Given the description of an element on the screen output the (x, y) to click on. 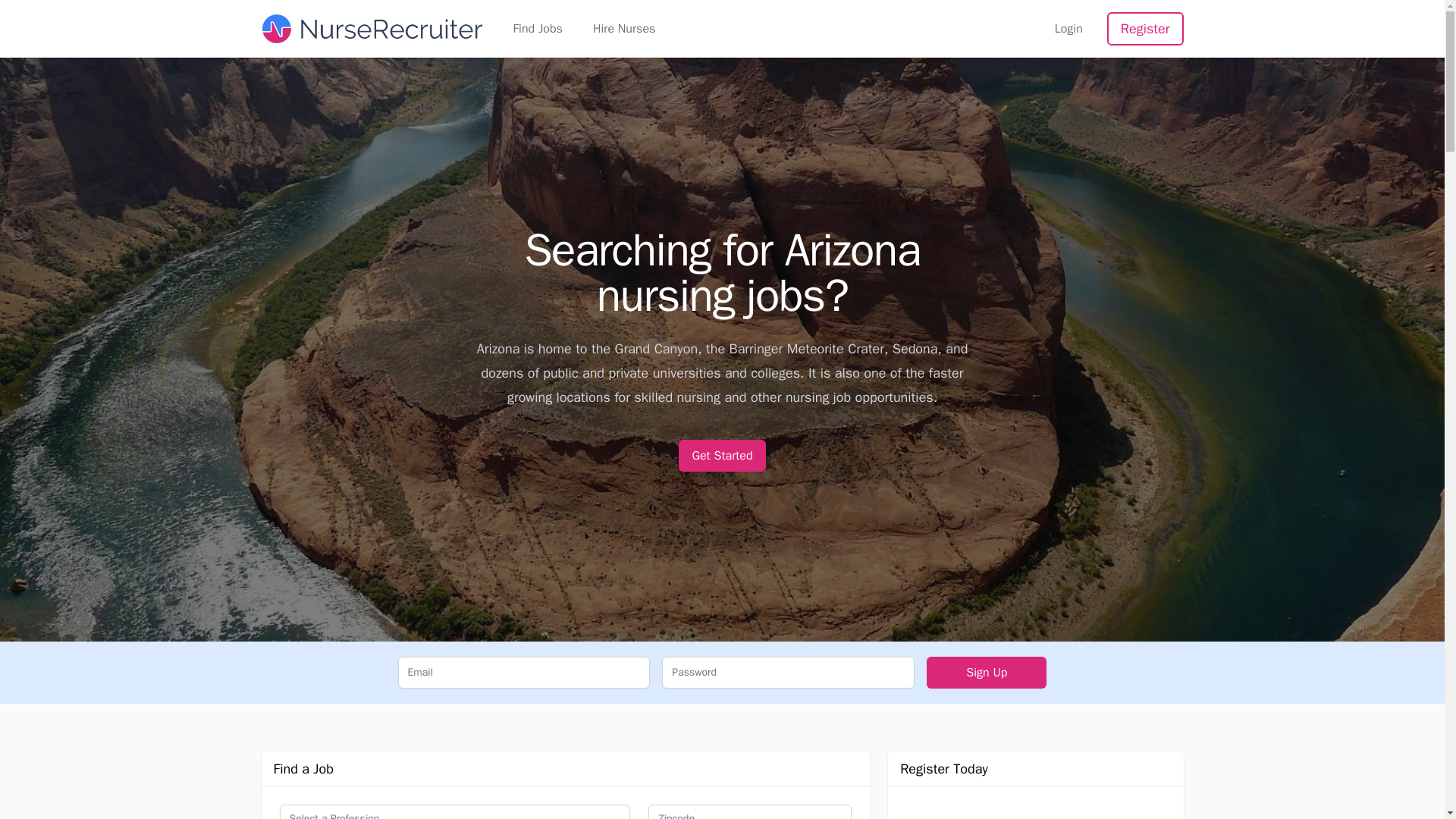
Sign Up (986, 672)
Get Started (721, 455)
Register (1144, 28)
Find Jobs (537, 28)
Login (1068, 28)
Hire Nurses (623, 28)
